Given the description of an element on the screen output the (x, y) to click on. 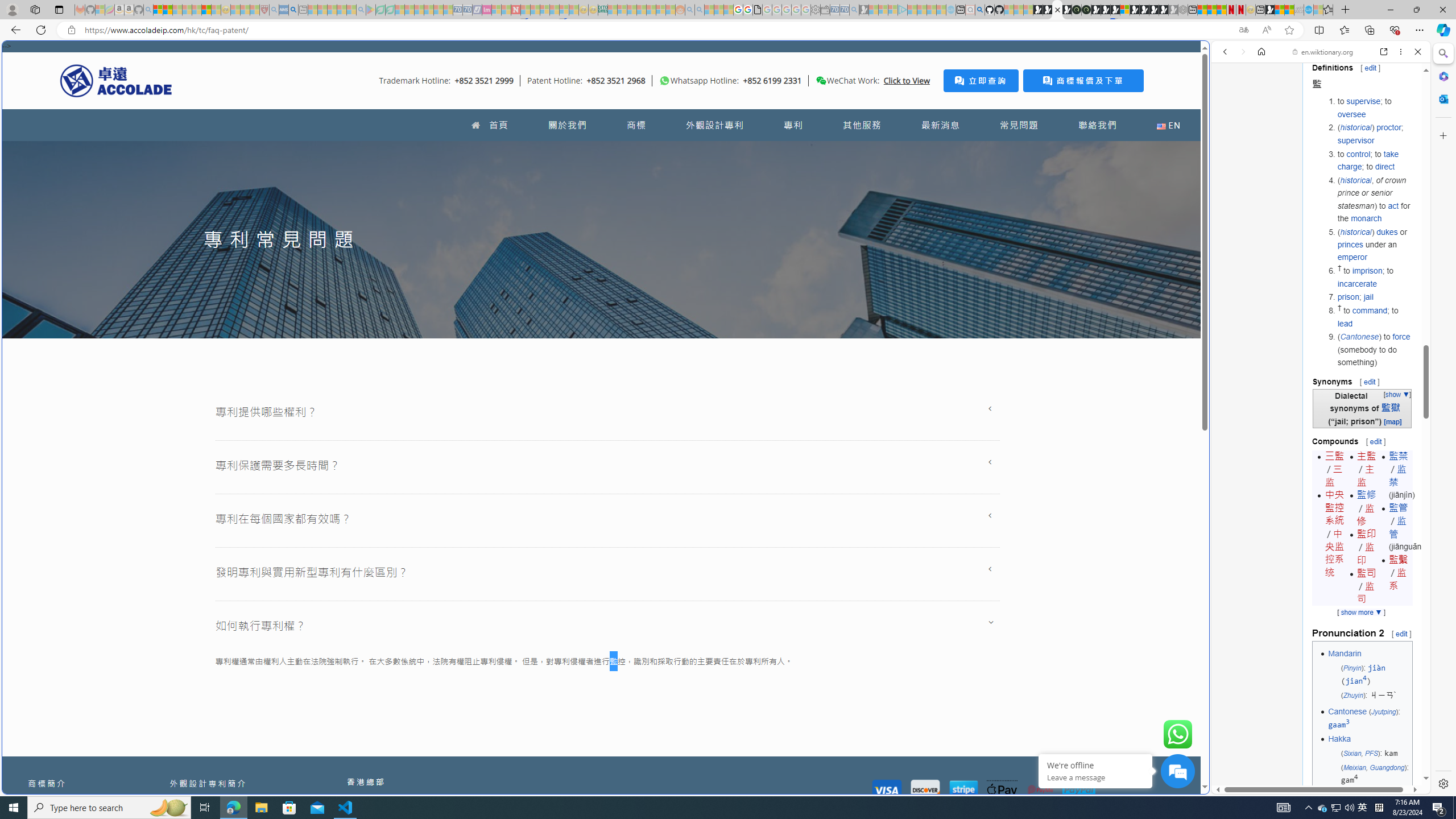
jail (1367, 297)
utah sues federal government - Search (922, 389)
Cantonese (Jyutping): gaam3 (1368, 718)
imprison (1367, 271)
Sign in to your account (1124, 9)
Frequently visited (965, 151)
Meixian (1353, 767)
